Given the description of an element on the screen output the (x, y) to click on. 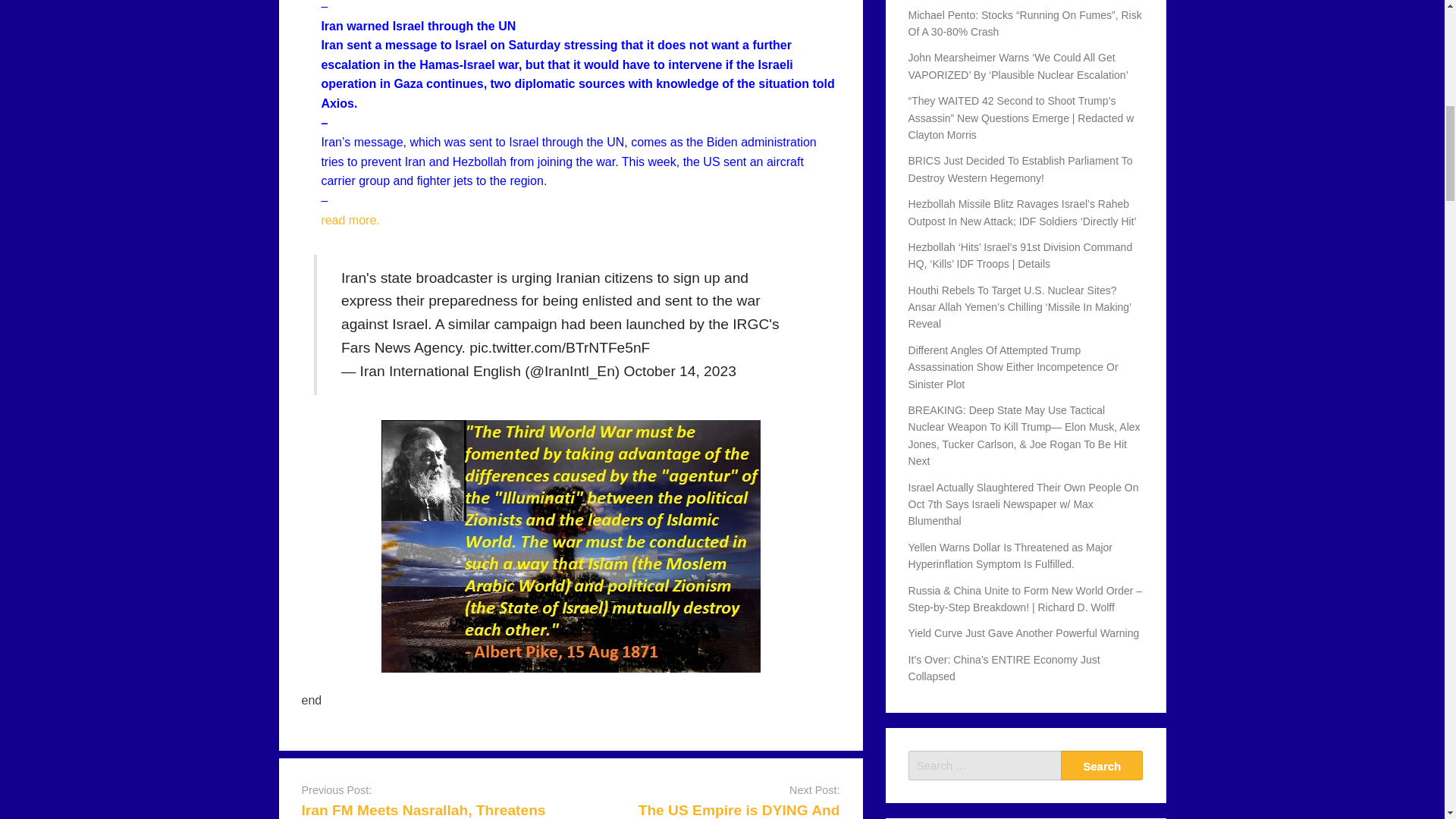
October 14, 2023 (680, 371)
Search (1101, 766)
Search (1101, 766)
read more. (349, 219)
Search (1101, 766)
Yield Curve Just Gave Another Powerful Warning (1024, 633)
